Given the description of an element on the screen output the (x, y) to click on. 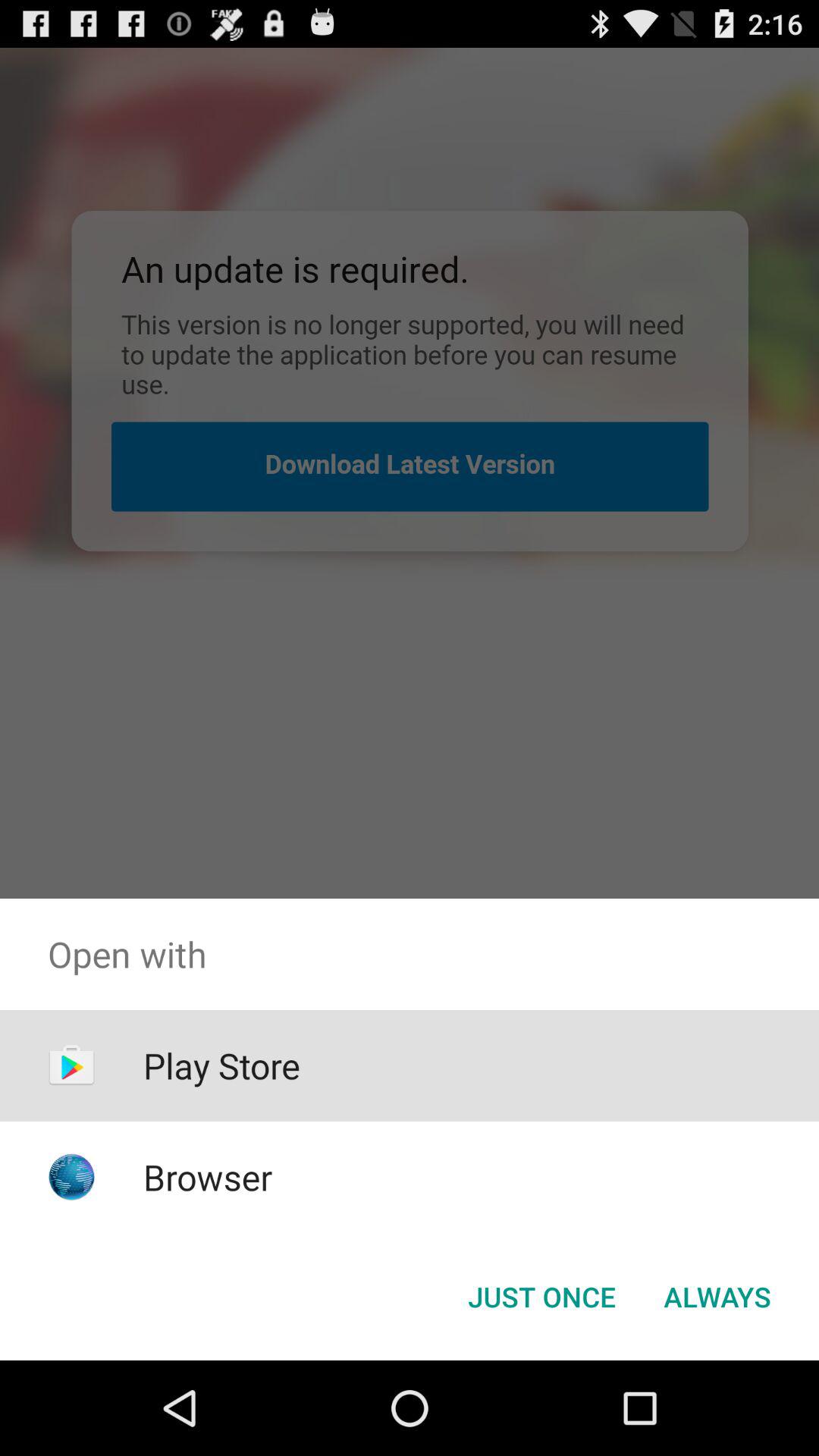
flip until browser item (207, 1176)
